Given the description of an element on the screen output the (x, y) to click on. 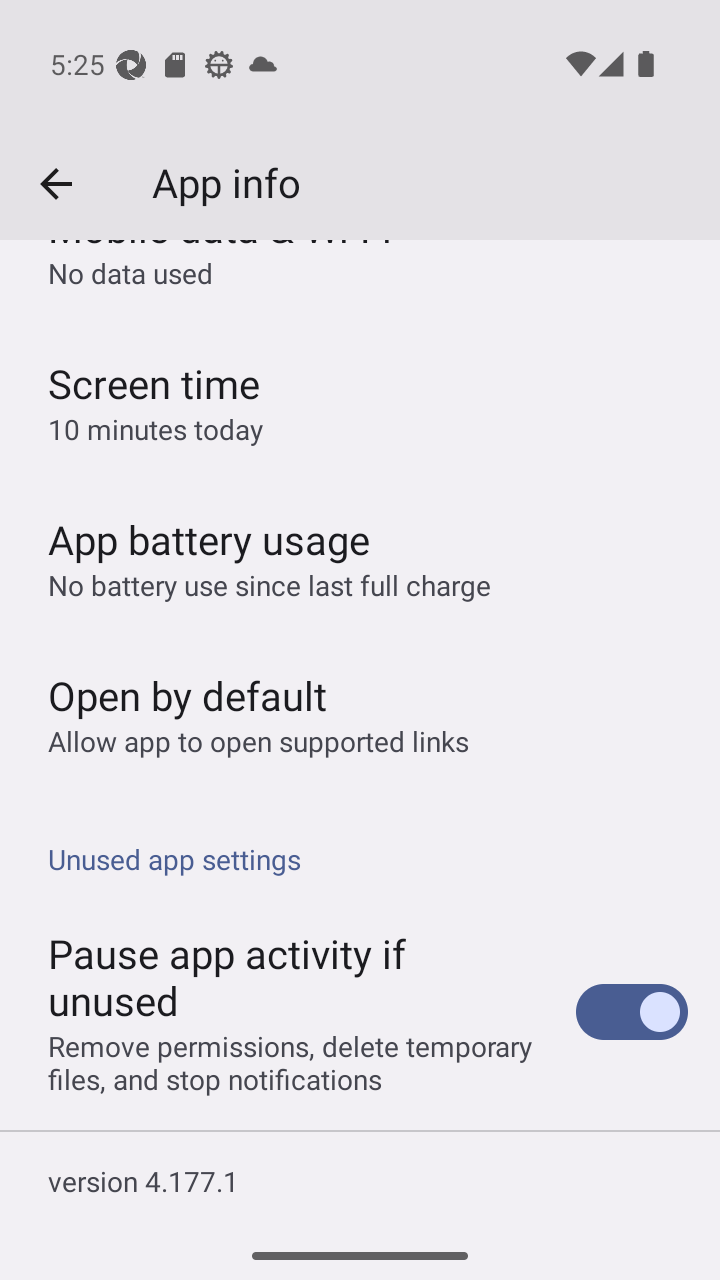
Navigate up (56, 184)
Screen time 10 minutes today (360, 401)
Open by default Allow app to open supported links (360, 714)
